Given the description of an element on the screen output the (x, y) to click on. 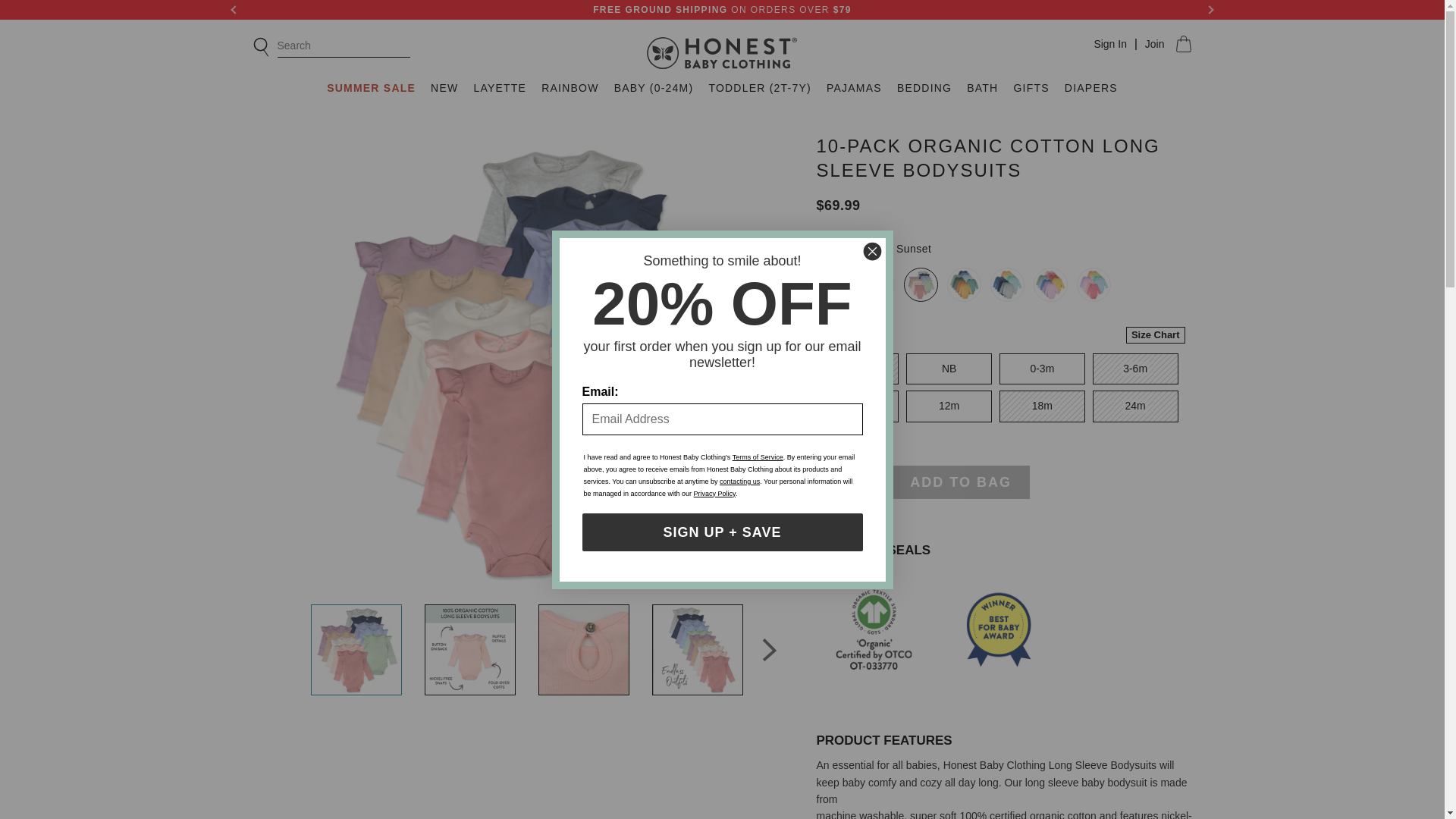
Search (330, 46)
1 (849, 482)
honest baby home logo graphic link redirects to home page (721, 54)
